Given the description of an element on the screen output the (x, y) to click on. 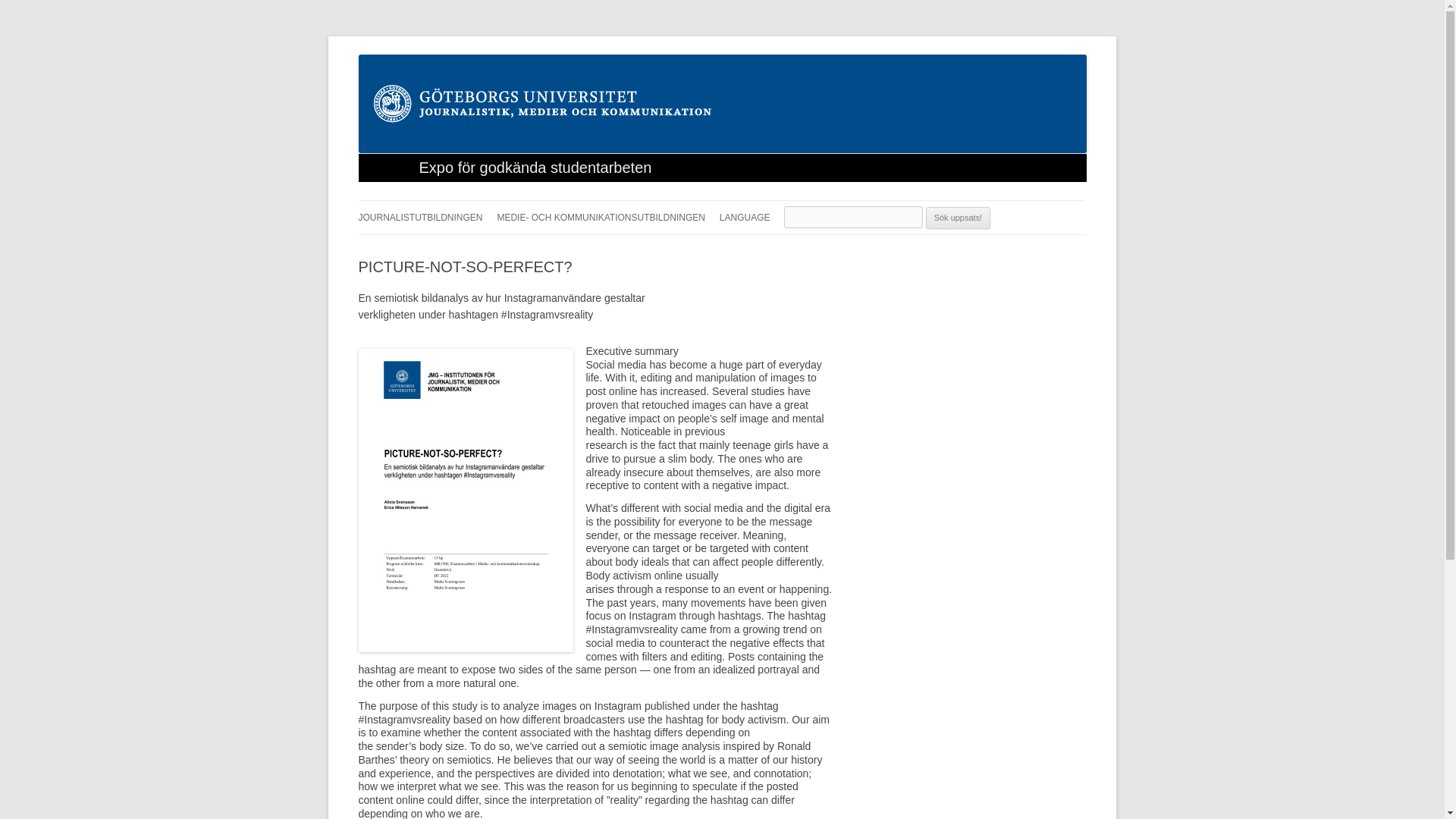
Swedish (794, 249)
MEDIE- OCH KOMMUNIKATIONSUTBILDNINGEN (600, 217)
JU KANDIDAT (433, 249)
LANGUAGE (744, 217)
1217 (465, 648)
JOURNALISTUTBILDNINGEN (419, 217)
MKV KANDIDAT (571, 249)
SVENSKA (794, 249)
